Given the description of an element on the screen output the (x, y) to click on. 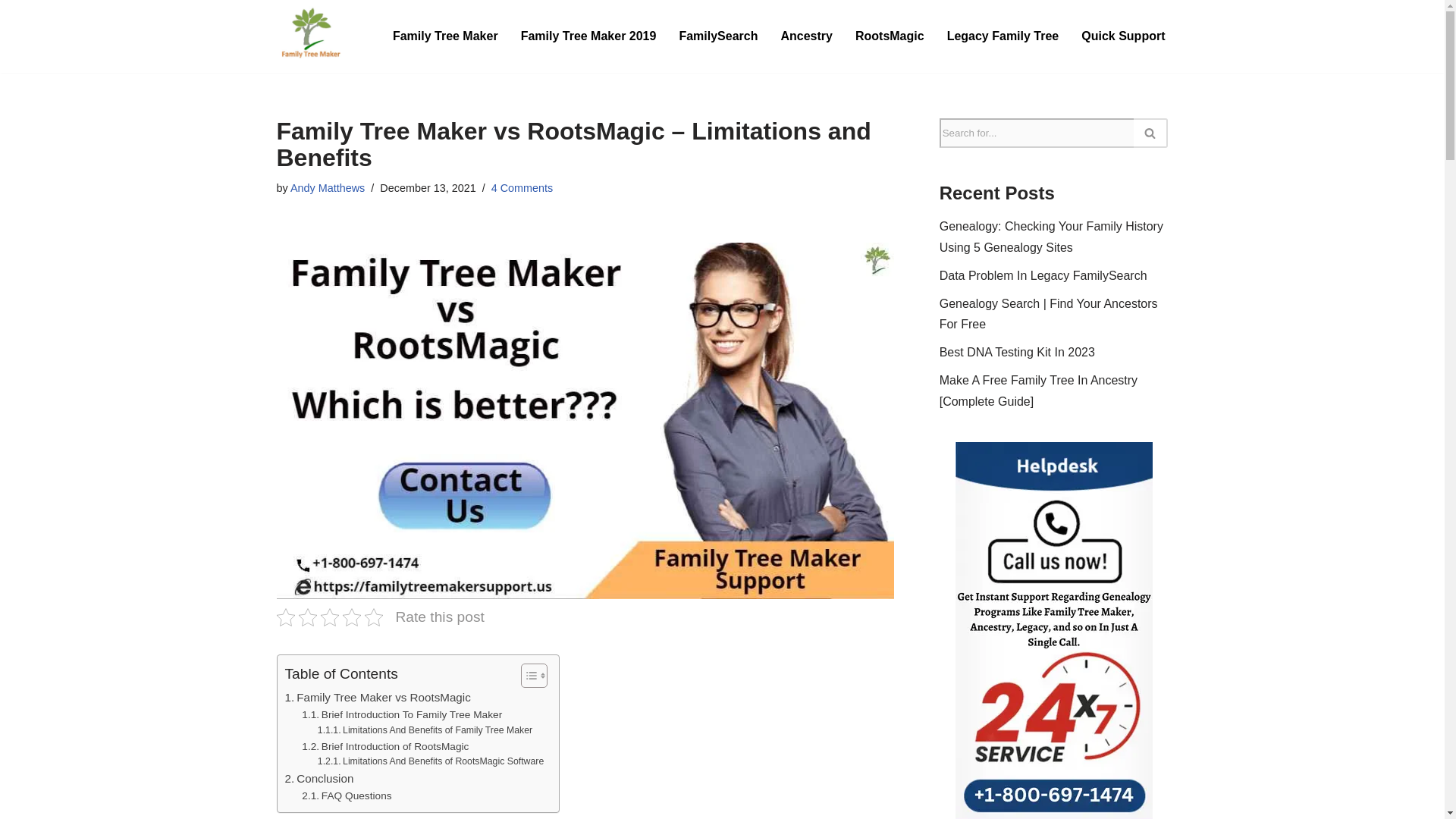
FamilySearch (717, 35)
FAQ Questions (346, 795)
FAQ Questions (346, 795)
Limitations And Benefits of Family Tree Maker (424, 730)
Limitations And Benefits of Family Tree Maker (424, 730)
Brief Introduction of RootsMagic (384, 746)
Conclusion (319, 778)
RootsMagic (890, 35)
Posts by Andy Matthews (327, 187)
Family Tree Maker vs RootsMagic (377, 697)
